Given the description of an element on the screen output the (x, y) to click on. 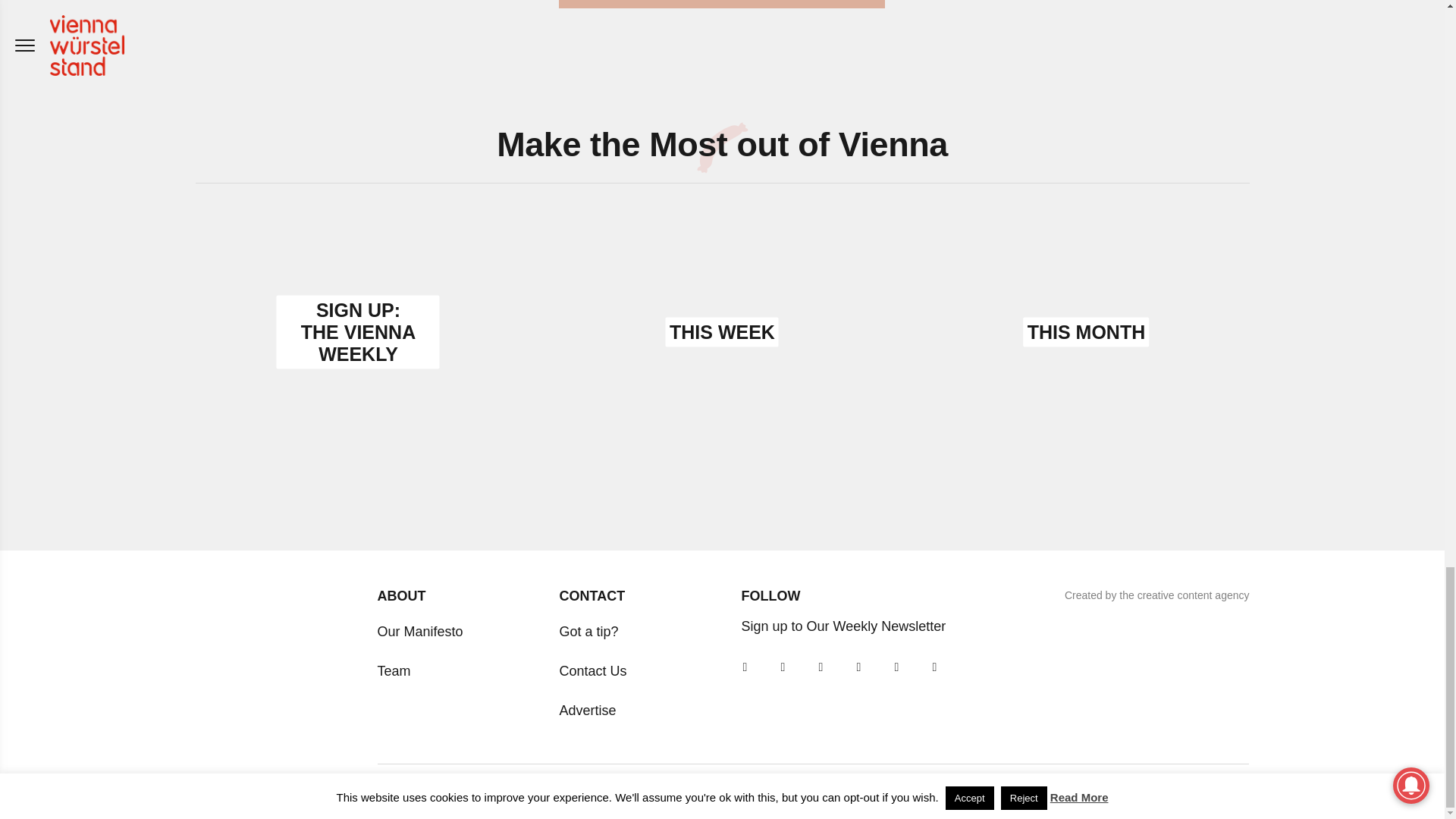
Pinterest (895, 666)
Instagram (744, 666)
TikTok (782, 666)
Youtube (820, 666)
Facebook (933, 666)
Twitter (858, 666)
